Given the description of an element on the screen output the (x, y) to click on. 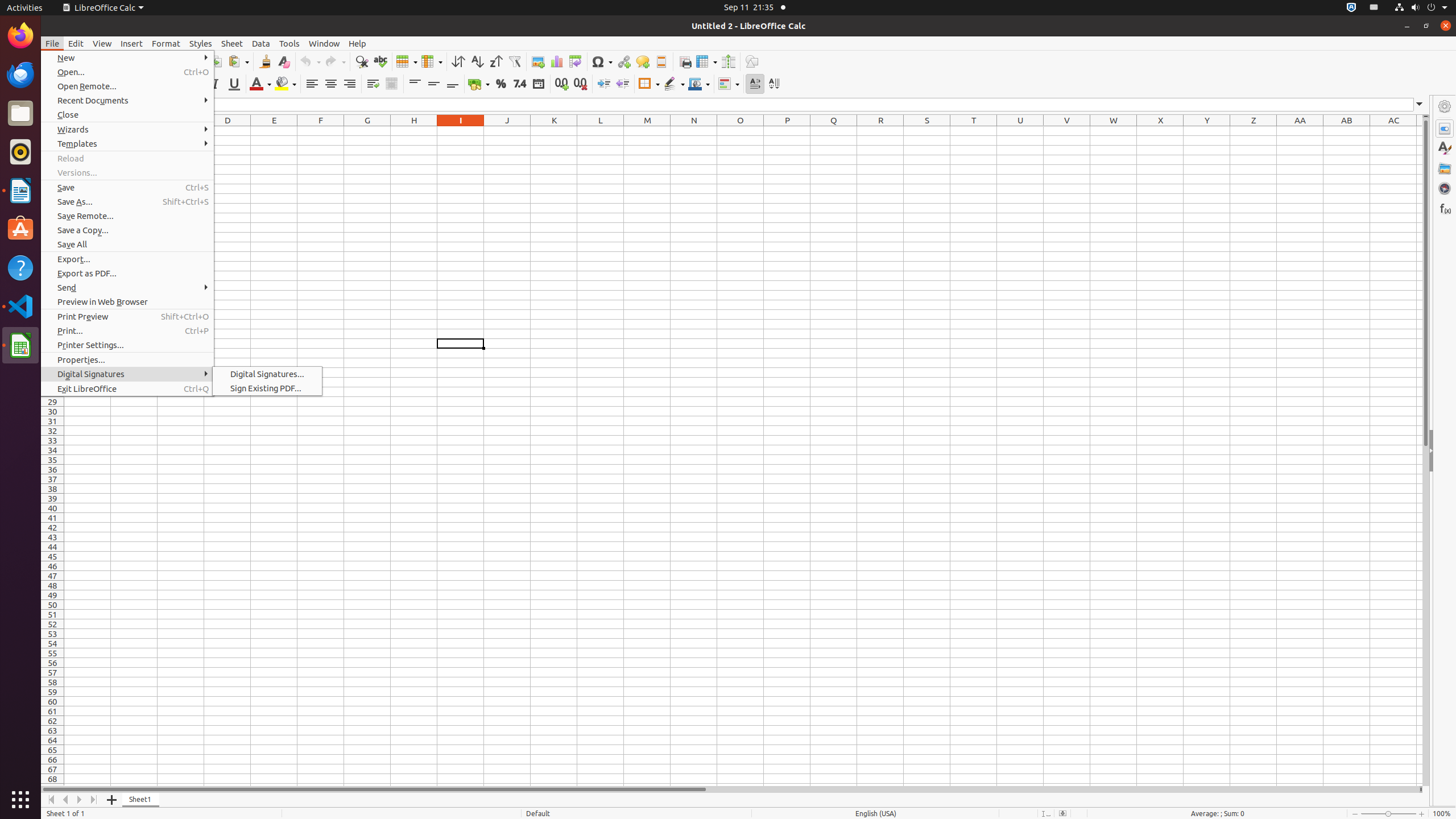
Move Left Element type: push-button (65, 799)
Sheet Element type: menu (231, 43)
Image Element type: push-button (537, 61)
Move To Home Element type: push-button (51, 799)
Functions Element type: radio-button (1444, 208)
